Given the description of an element on the screen output the (x, y) to click on. 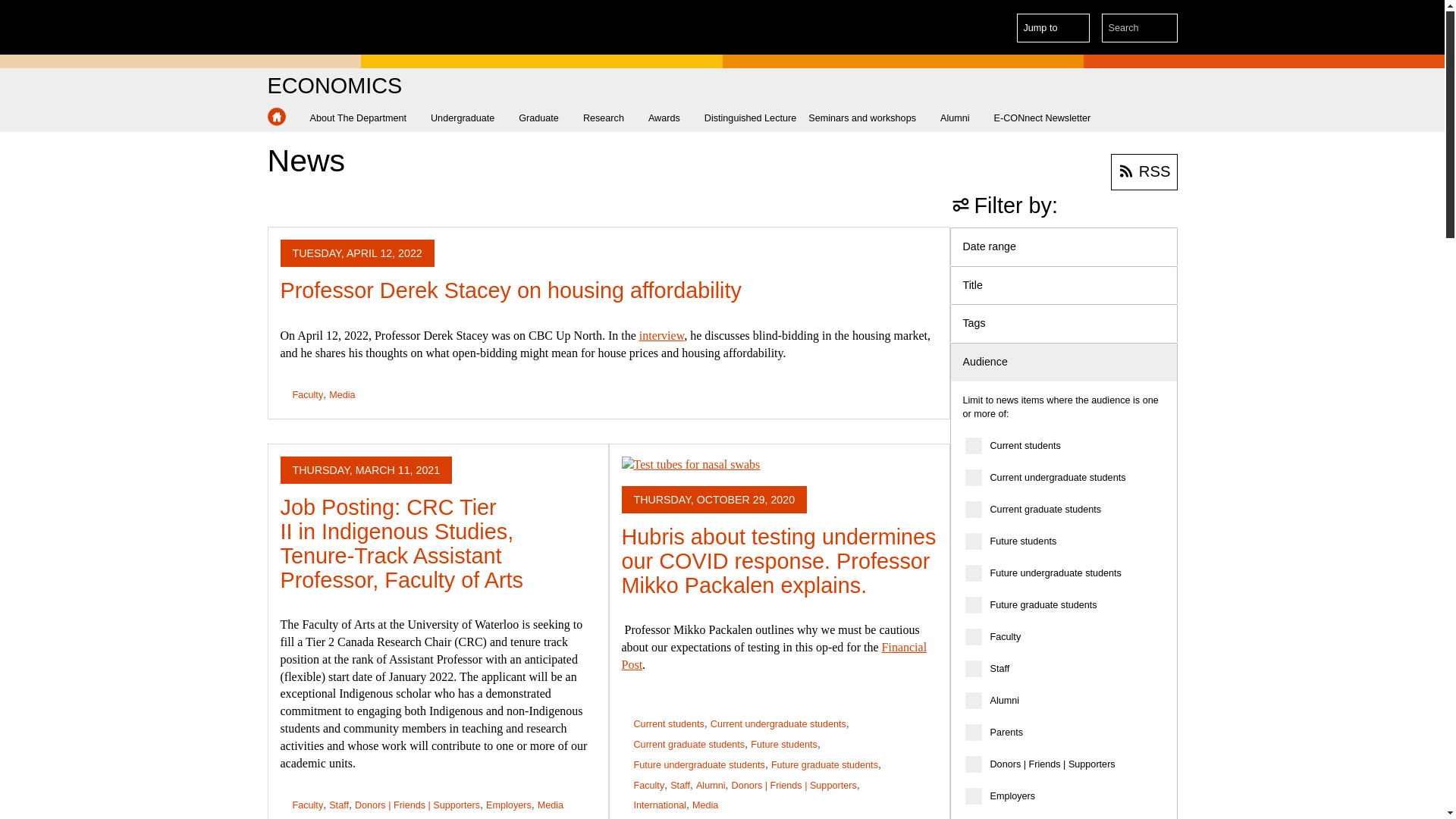
Search (1163, 27)
Search (1163, 27)
Economics Home (275, 116)
Economics Home (275, 116)
Undergraduate (468, 117)
Graduate (544, 117)
University of Waterloo Home (331, 27)
About The Department (363, 117)
Jump to (1053, 27)
Economics Home (333, 85)
ECONOMICS (333, 85)
